Given the description of an element on the screen output the (x, y) to click on. 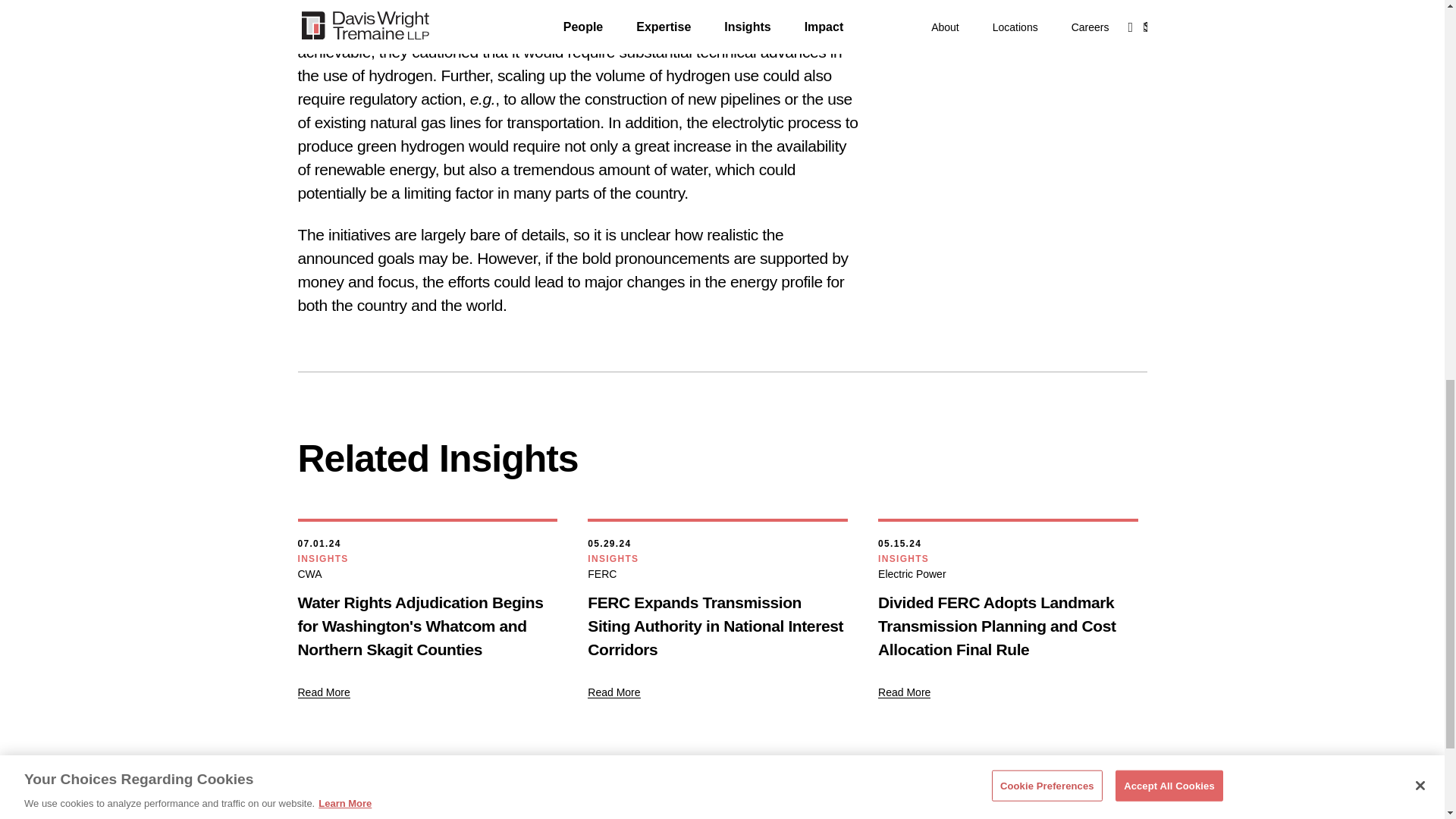
Read More (614, 692)
Read More (903, 692)
Read More (323, 692)
